Given the description of an element on the screen output the (x, y) to click on. 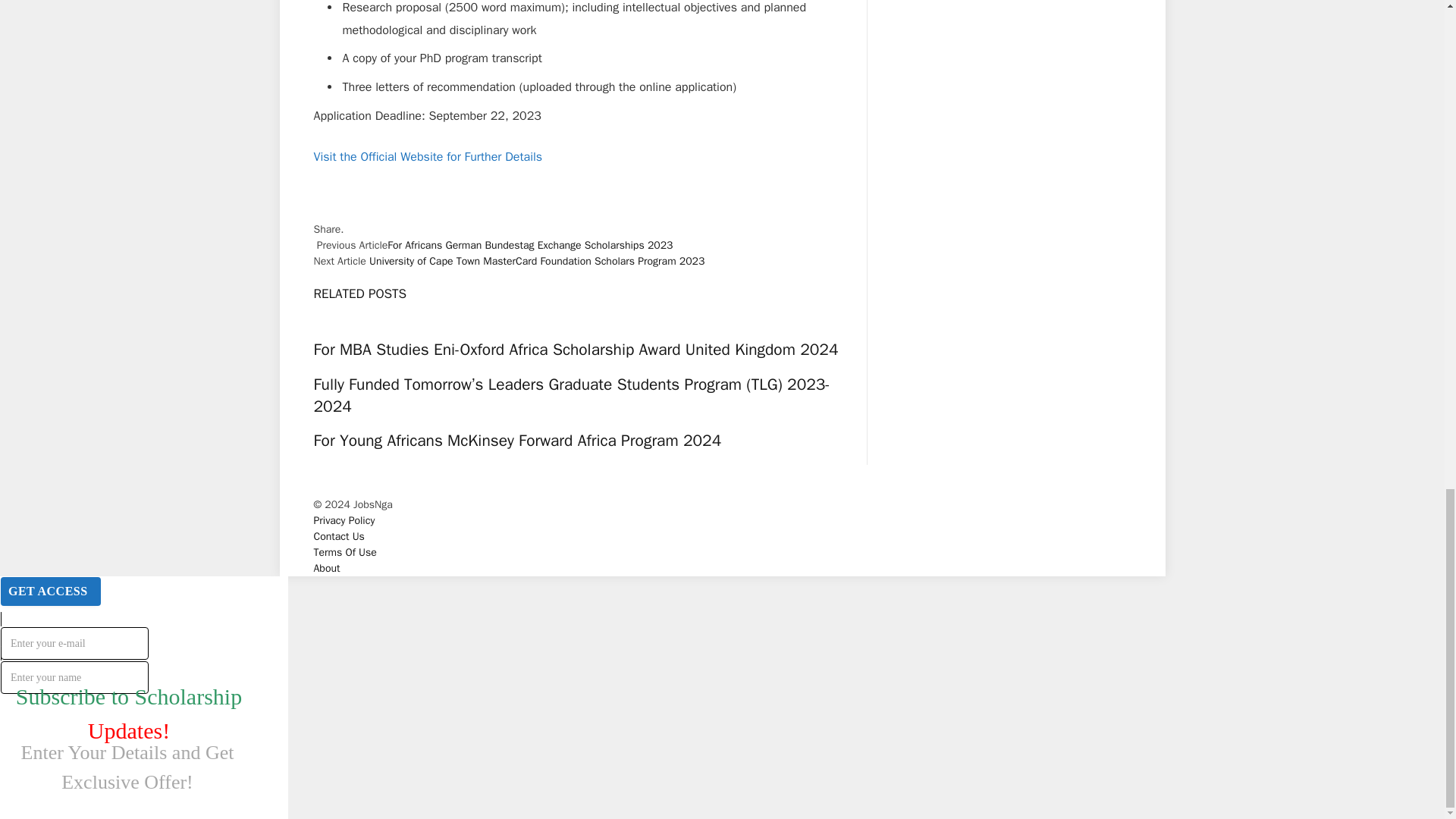
Visit the Official Website for Further Details (428, 156)
For Africans German Bundestag Exchange Scholarships 2023 (529, 245)
